Given the description of an element on the screen output the (x, y) to click on. 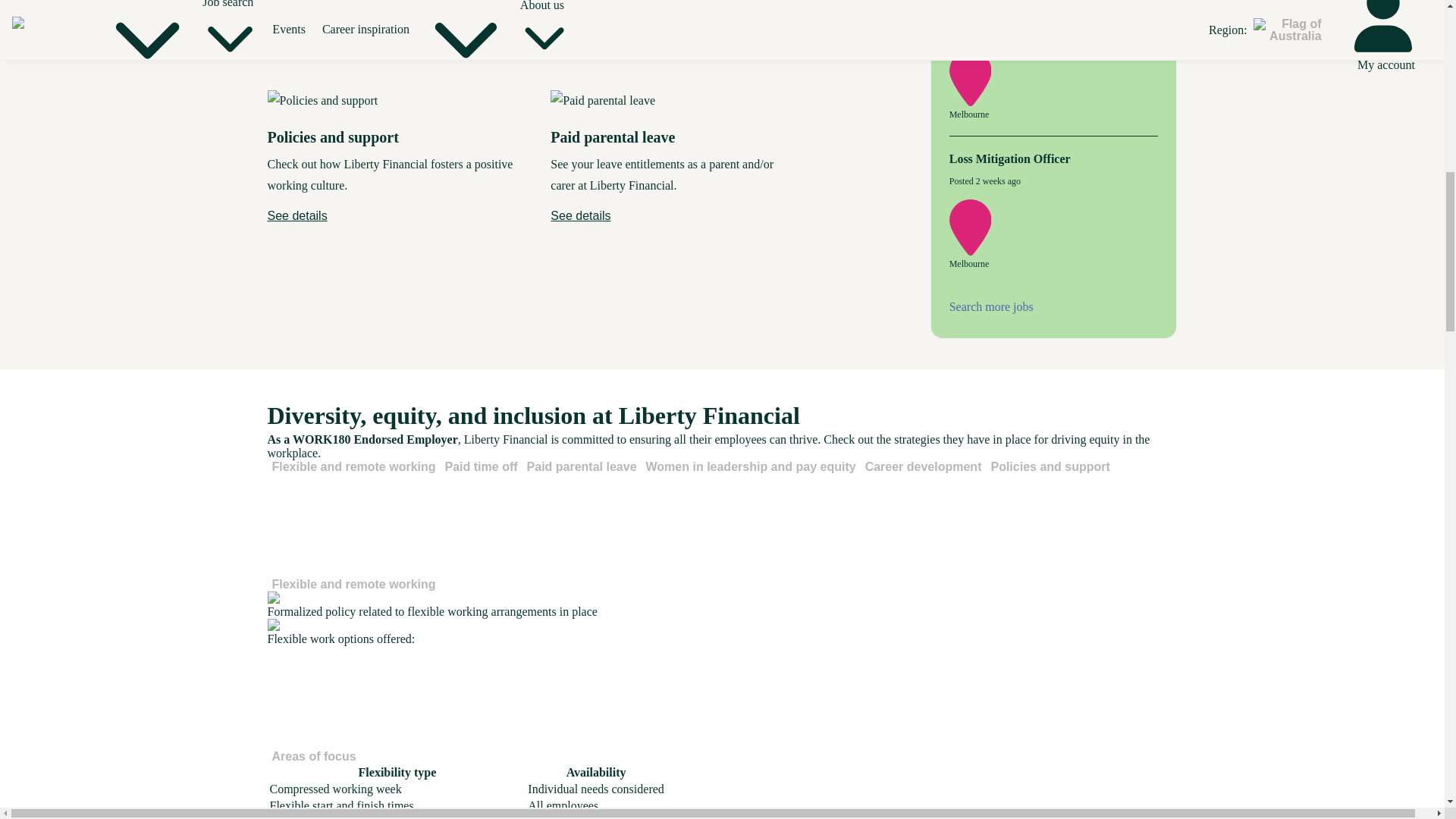
Location (973, 252)
Location (973, 102)
